Given the description of an element on the screen output the (x, y) to click on. 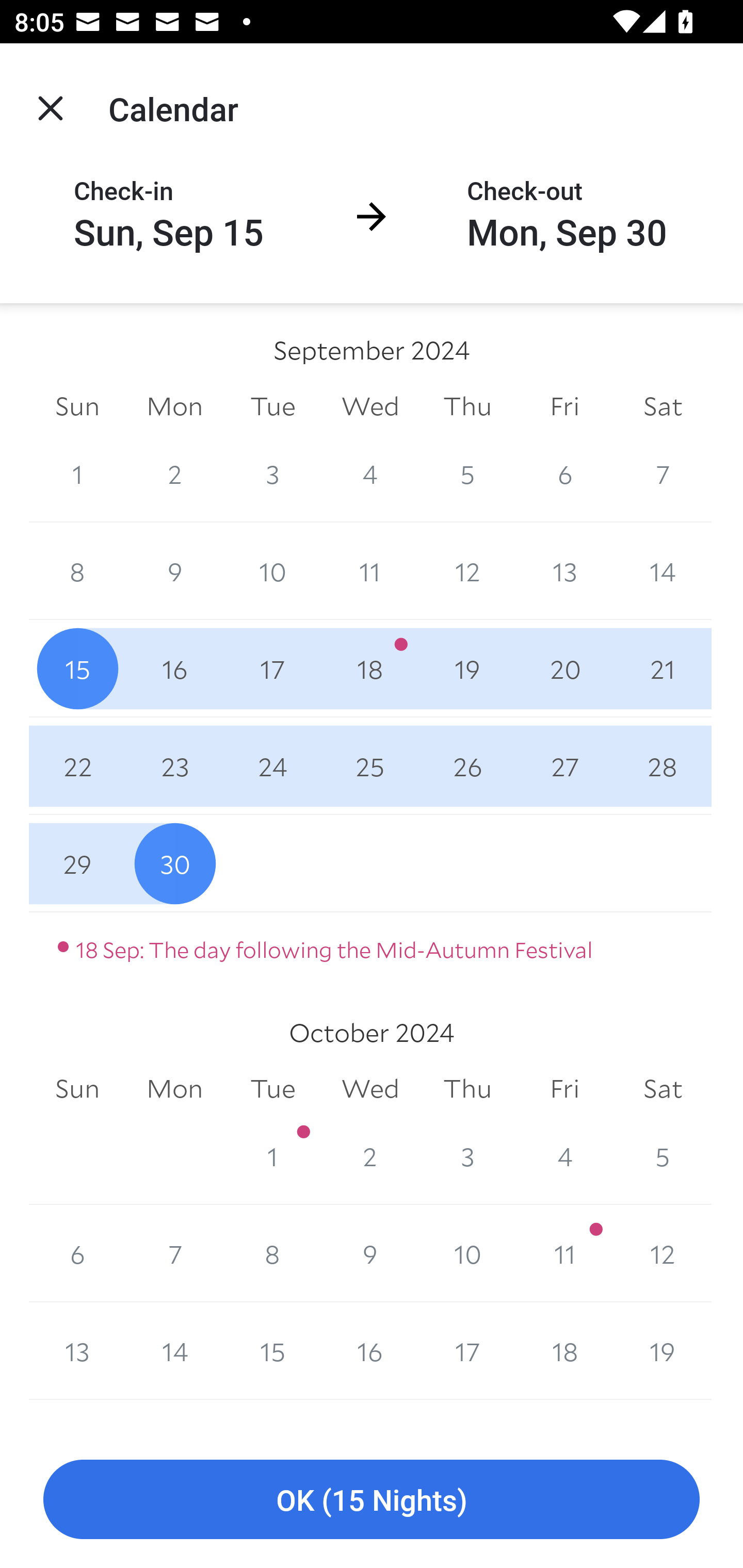
Sun (77, 405)
Mon (174, 405)
Tue (272, 405)
Wed (370, 405)
Thu (467, 405)
Fri (564, 405)
Sat (662, 405)
1 1 September 2024 (77, 473)
2 2 September 2024 (174, 473)
3 3 September 2024 (272, 473)
4 4 September 2024 (370, 473)
5 5 September 2024 (467, 473)
6 6 September 2024 (564, 473)
7 7 September 2024 (662, 473)
8 8 September 2024 (77, 570)
9 9 September 2024 (174, 570)
10 10 September 2024 (272, 570)
11 11 September 2024 (370, 570)
12 12 September 2024 (467, 570)
13 13 September 2024 (564, 570)
14 14 September 2024 (662, 570)
15 15 September 2024 (77, 668)
16 16 September 2024 (174, 668)
17 17 September 2024 (272, 668)
18 18 September 2024 (370, 668)
19 19 September 2024 (467, 668)
20 20 September 2024 (564, 668)
21 21 September 2024 (662, 668)
22 22 September 2024 (77, 766)
23 23 September 2024 (174, 766)
24 24 September 2024 (272, 766)
25 25 September 2024 (370, 766)
26 26 September 2024 (467, 766)
27 27 September 2024 (564, 766)
28 28 September 2024 (662, 766)
29 29 September 2024 (77, 863)
30 30 September 2024 (174, 863)
Sun (77, 1088)
Mon (174, 1088)
Tue (272, 1088)
Wed (370, 1088)
Thu (467, 1088)
Fri (564, 1088)
Sat (662, 1088)
1 1 October 2024 (272, 1155)
2 2 October 2024 (370, 1155)
3 3 October 2024 (467, 1155)
4 4 October 2024 (564, 1155)
5 5 October 2024 (662, 1155)
6 6 October 2024 (77, 1253)
7 7 October 2024 (174, 1253)
8 8 October 2024 (272, 1253)
9 9 October 2024 (370, 1253)
10 10 October 2024 (467, 1253)
11 11 October 2024 (564, 1253)
12 12 October 2024 (662, 1253)
13 13 October 2024 (77, 1351)
14 14 October 2024 (174, 1351)
15 15 October 2024 (272, 1351)
16 16 October 2024 (370, 1351)
17 17 October 2024 (467, 1351)
18 18 October 2024 (564, 1351)
19 19 October 2024 (662, 1351)
OK (15 Nights) (371, 1499)
